Given the description of an element on the screen output the (x, y) to click on. 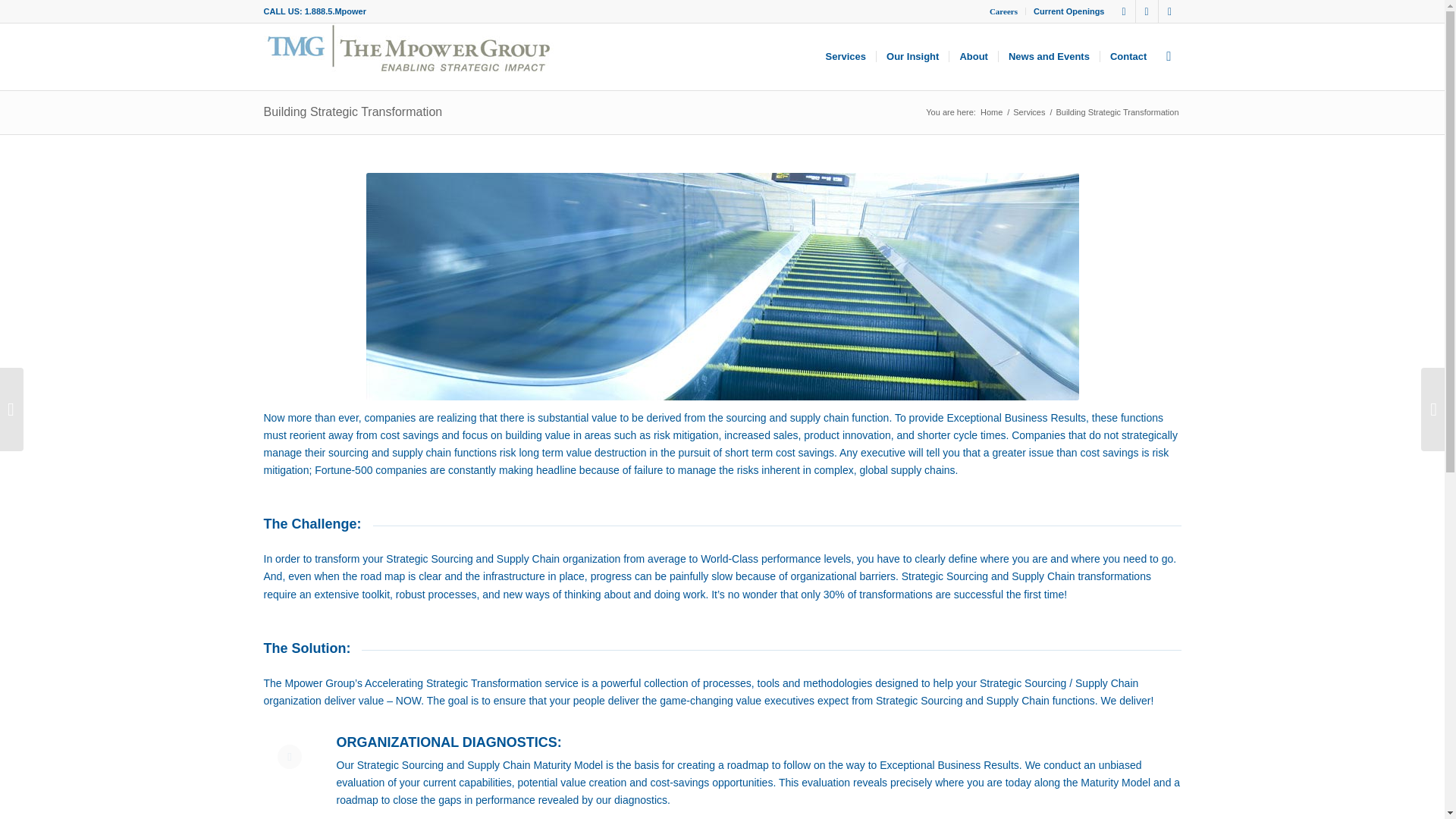
Home (991, 112)
Building Strategic Transformation (352, 111)
Linkedin (1146, 11)
Services (1028, 112)
Our Insight (912, 56)
Current Openings (1069, 11)
Facebook (1169, 11)
News and Events (1048, 56)
Twitter (1124, 11)
